Given the description of an element on the screen output the (x, y) to click on. 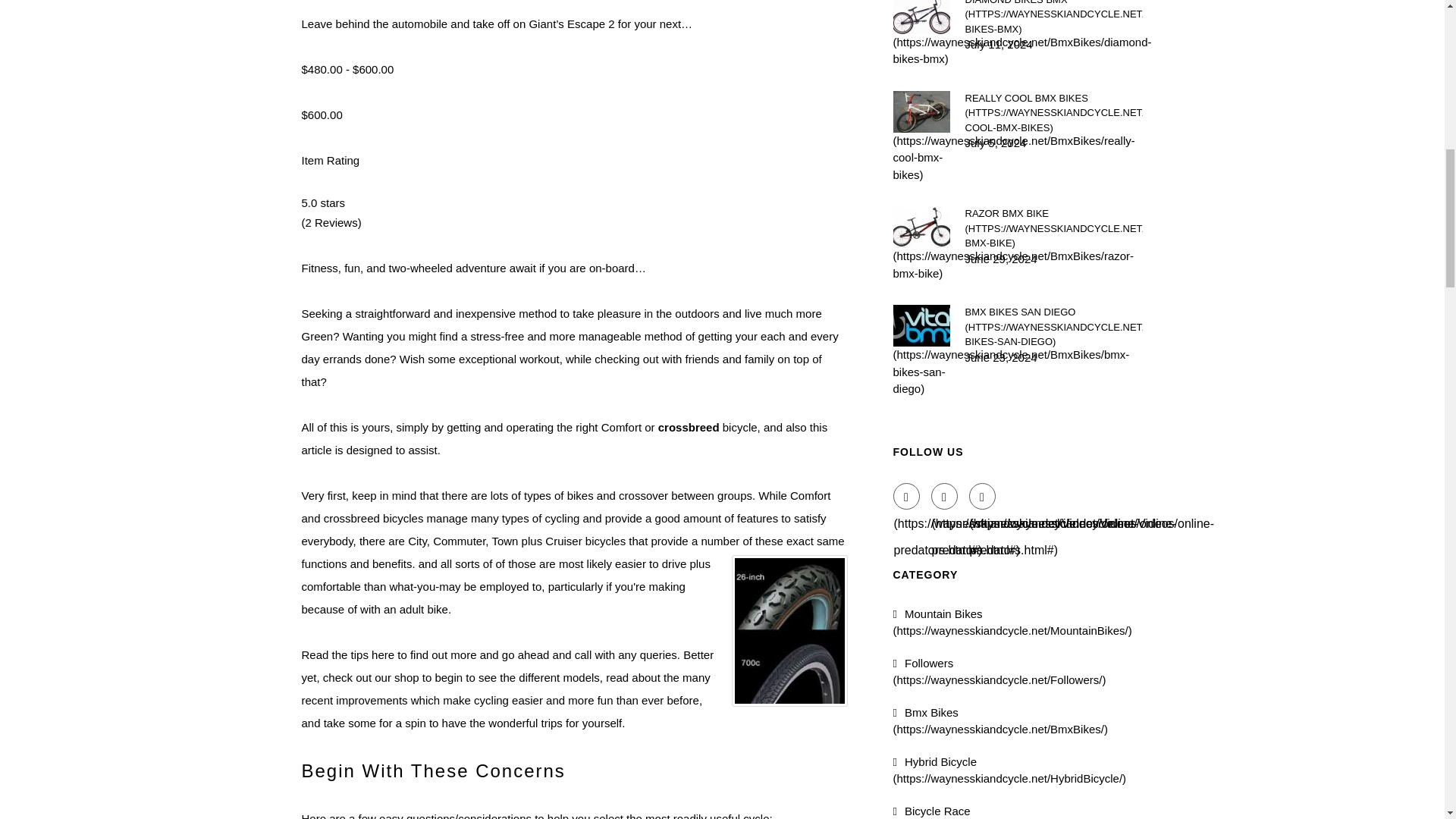
View all posts filed under Followers (999, 671)
View all posts filed under Bicycle Race (1006, 811)
View all posts filed under Mountain Bikes (1012, 621)
Facebook (906, 495)
Google Plus (982, 495)
View all posts filed under Hybrid Bicycle (1009, 770)
Twitter (944, 495)
View all posts filed under Bmx Bikes (1000, 720)
